Given the description of an element on the screen output the (x, y) to click on. 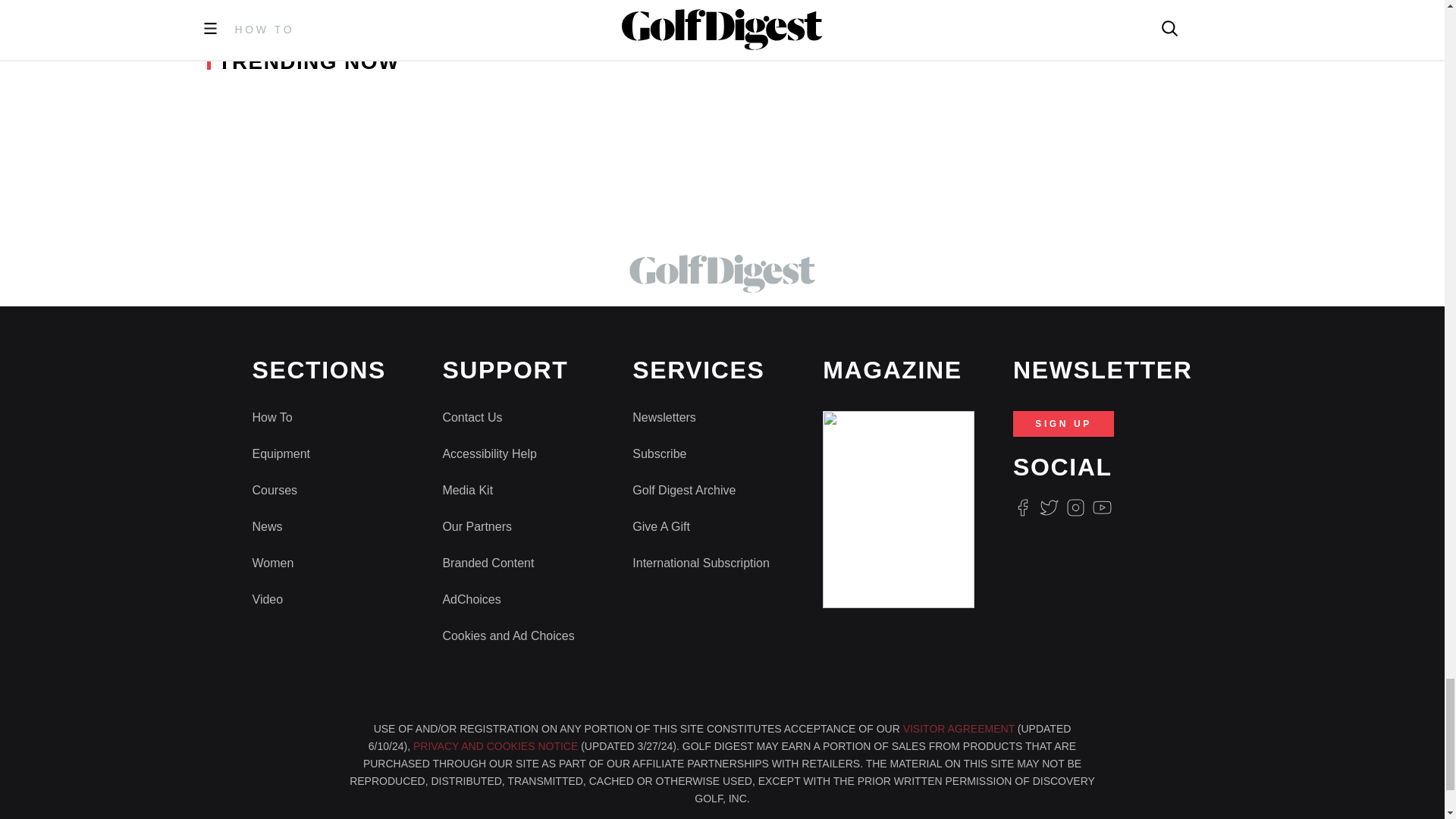
Facebook Logo (1022, 506)
Instagram Logo (1074, 506)
Youtube Icon (1102, 506)
Twitter Logo (1048, 506)
